Given the description of an element on the screen output the (x, y) to click on. 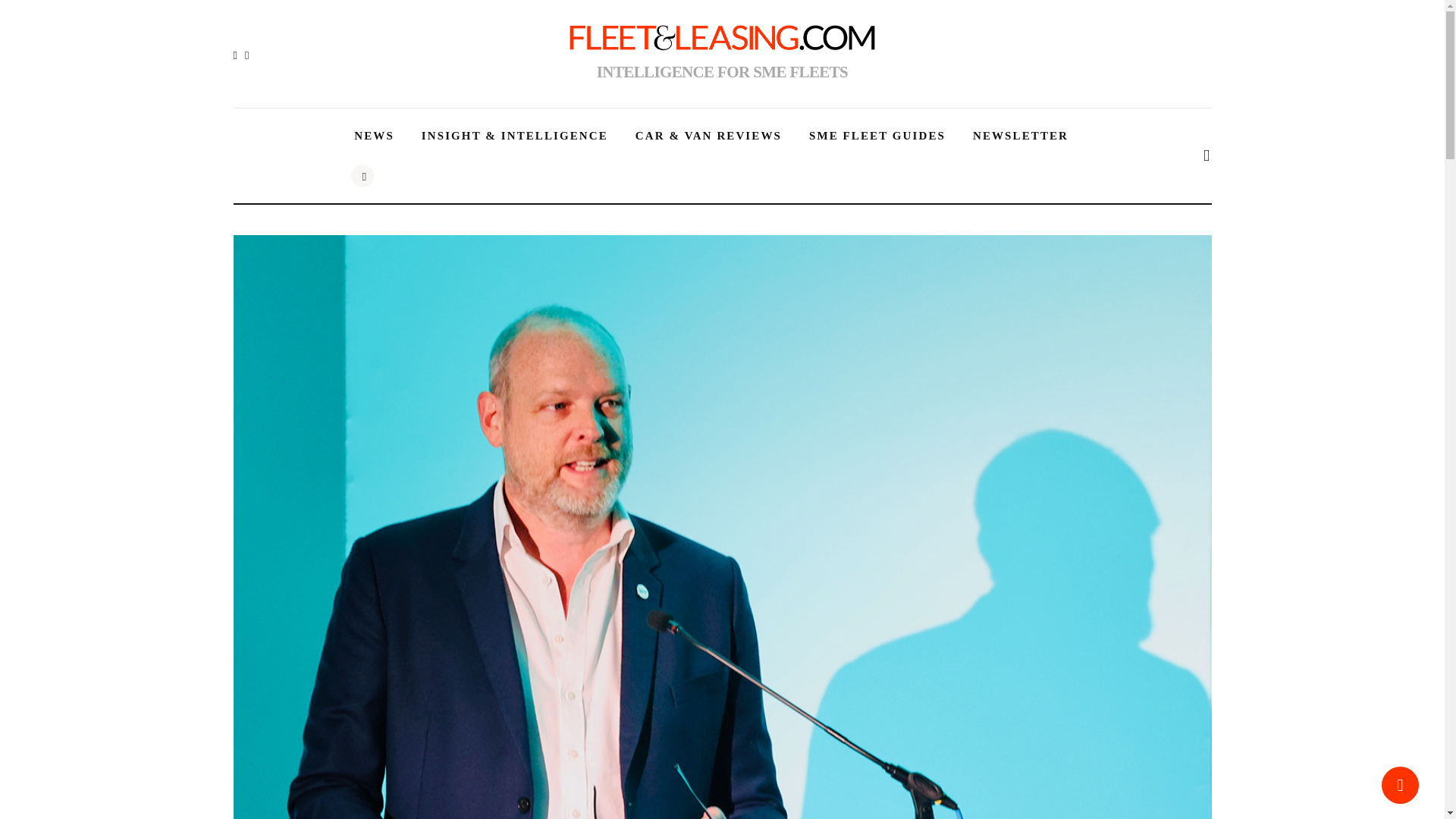
NEWS (373, 136)
